Given the description of an element on the screen output the (x, y) to click on. 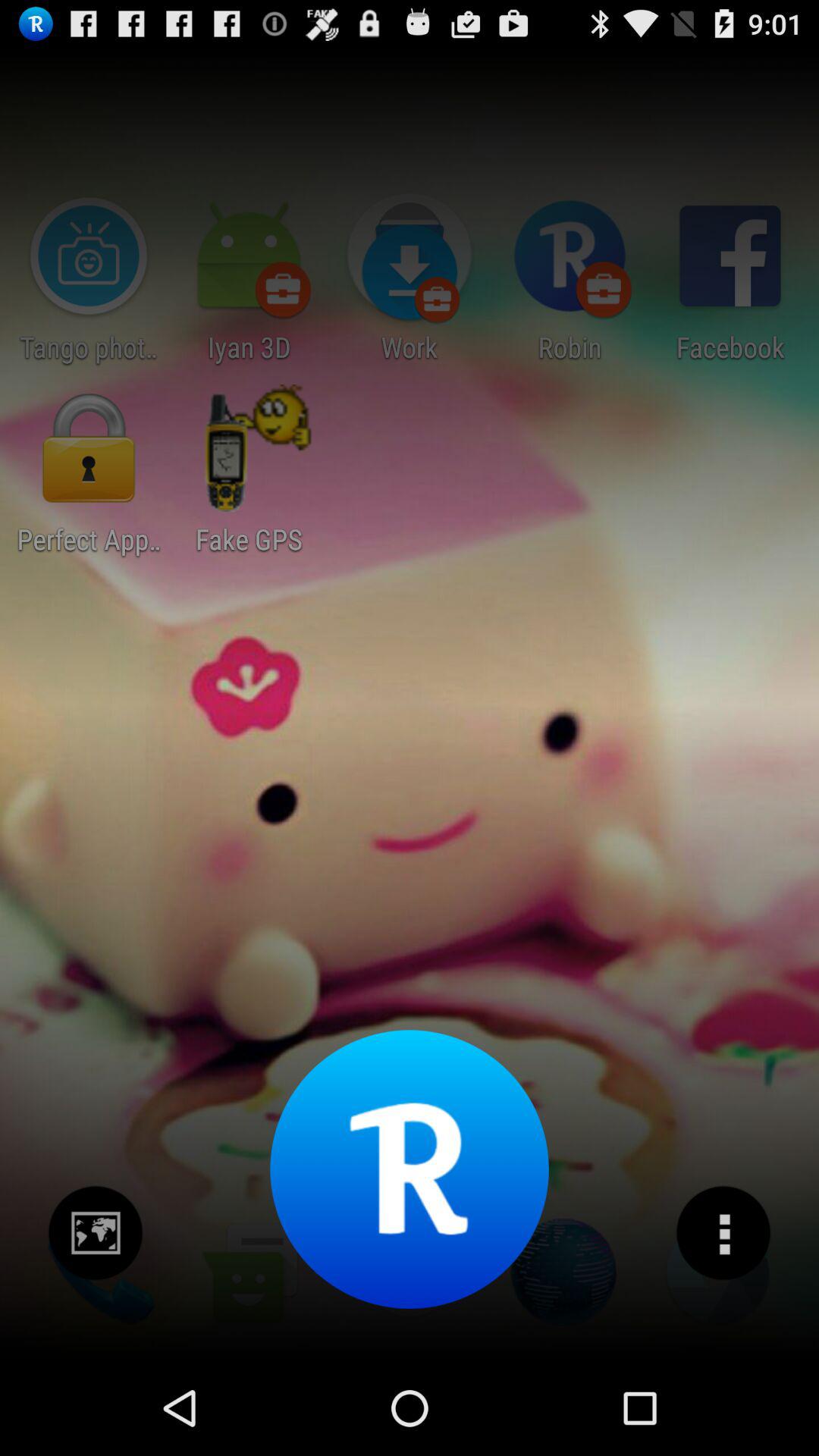
option (723, 1232)
